Given the description of an element on the screen output the (x, y) to click on. 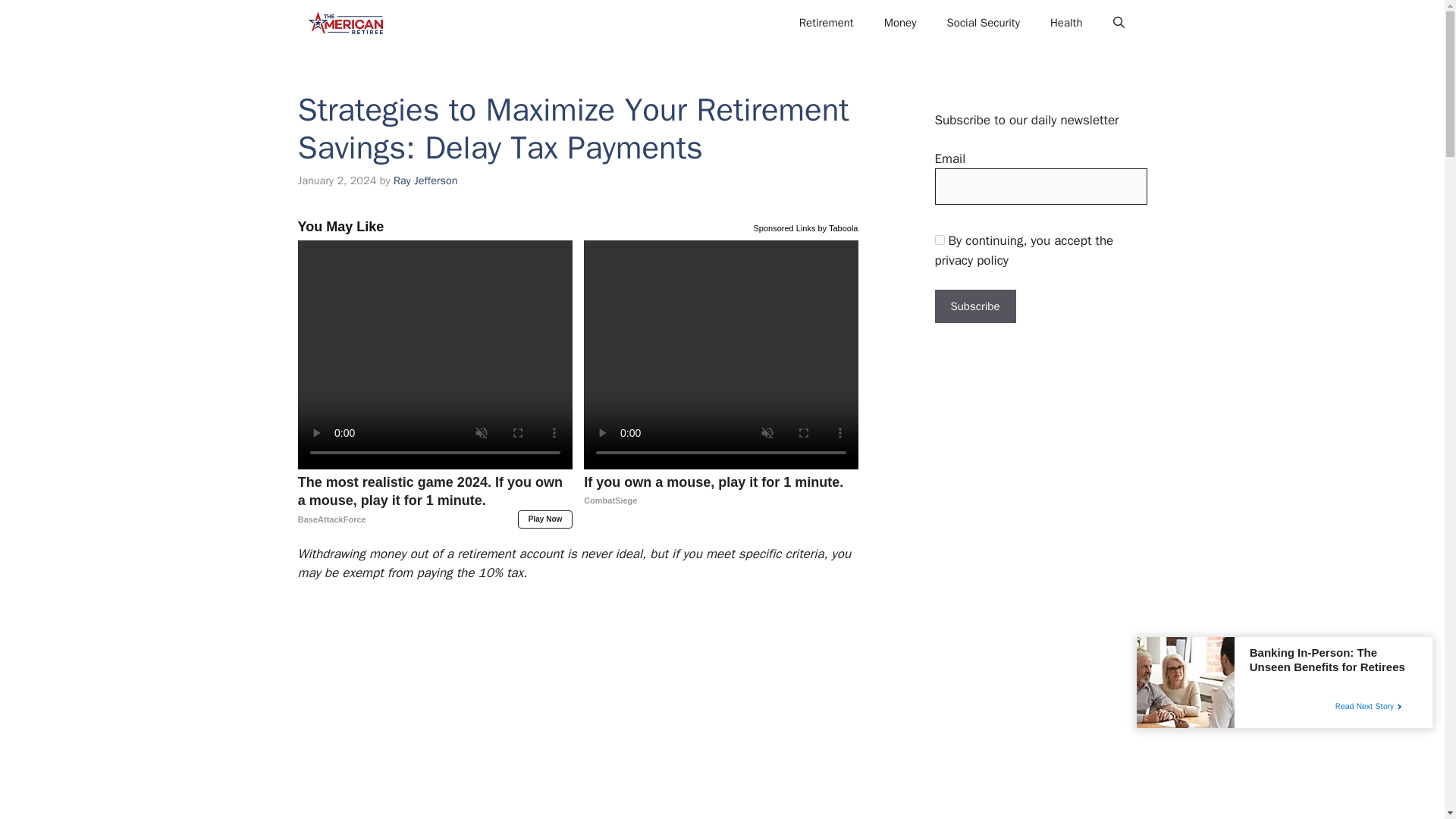
Ray Jefferson (425, 180)
Subscribe (974, 306)
Play Now (545, 519)
If you own a mouse, play it for 1 minute. (721, 491)
Money (900, 22)
Health (1066, 22)
The American Retiree (344, 22)
1 (938, 239)
Advertisement (570, 707)
Social Security (721, 491)
Sponsored Links (983, 22)
